Given the description of an element on the screen output the (x, y) to click on. 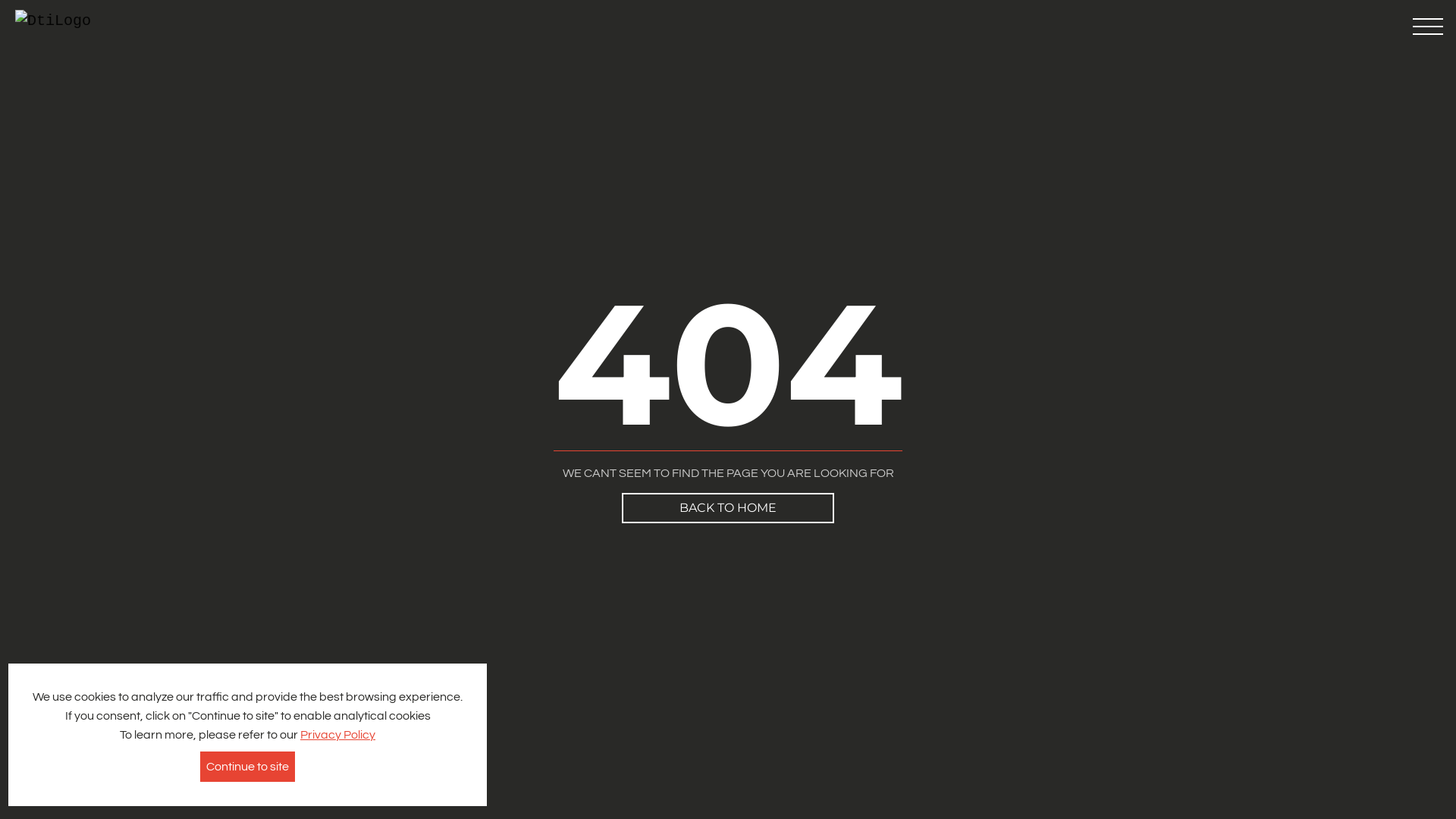
BACK TO HOME Element type: text (727, 507)
Continue to site Element type: text (247, 766)
Privacy Policy Element type: text (337, 734)
